Given the description of an element on the screen output the (x, y) to click on. 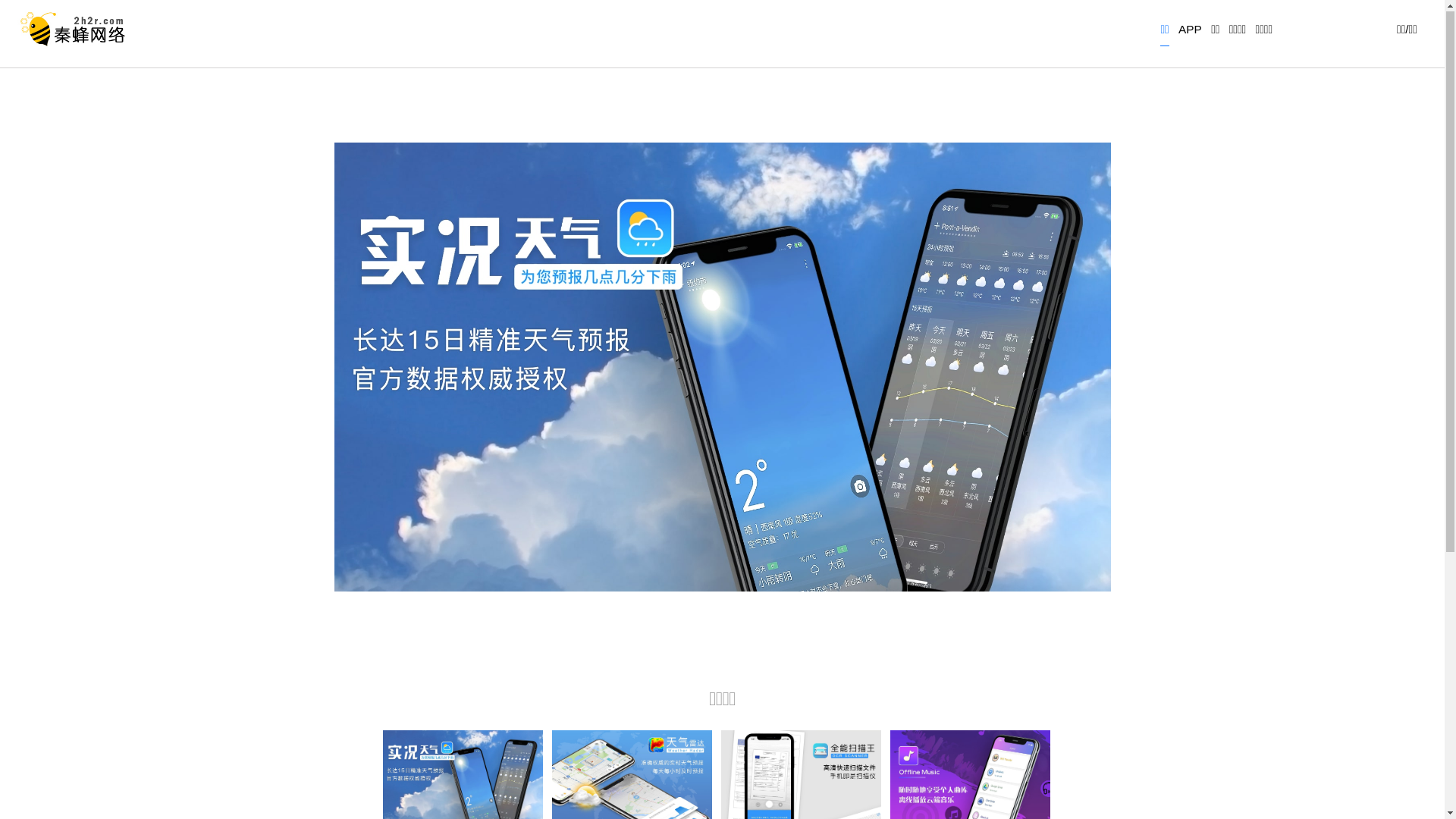
APP Element type: text (1189, 33)
